Given the description of an element on the screen output the (x, y) to click on. 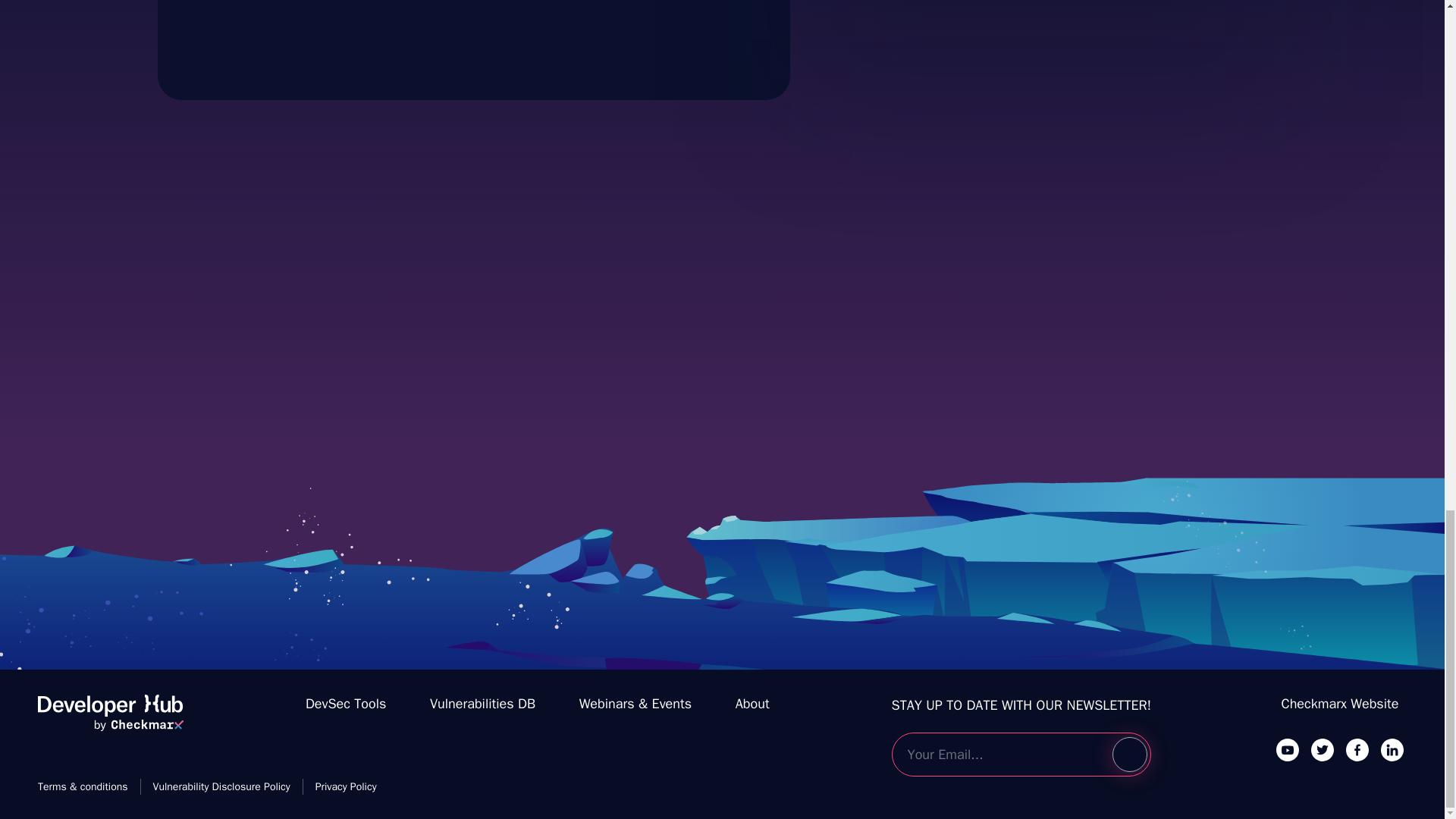
Submit form (1129, 754)
Checkmarx Website (1340, 703)
Follow us on Facebook (1356, 749)
Goto website home page (110, 719)
Vulnerabilities DB (482, 703)
Follow us on Linkedin (1391, 749)
DevSec Tools (345, 703)
Follow us on Twitter (1037, 12)
Follow us on Youtube (1322, 749)
Vulnerability Disclosure Policy (1287, 749)
About (220, 786)
Privacy Policy (752, 703)
